Given the description of an element on the screen output the (x, y) to click on. 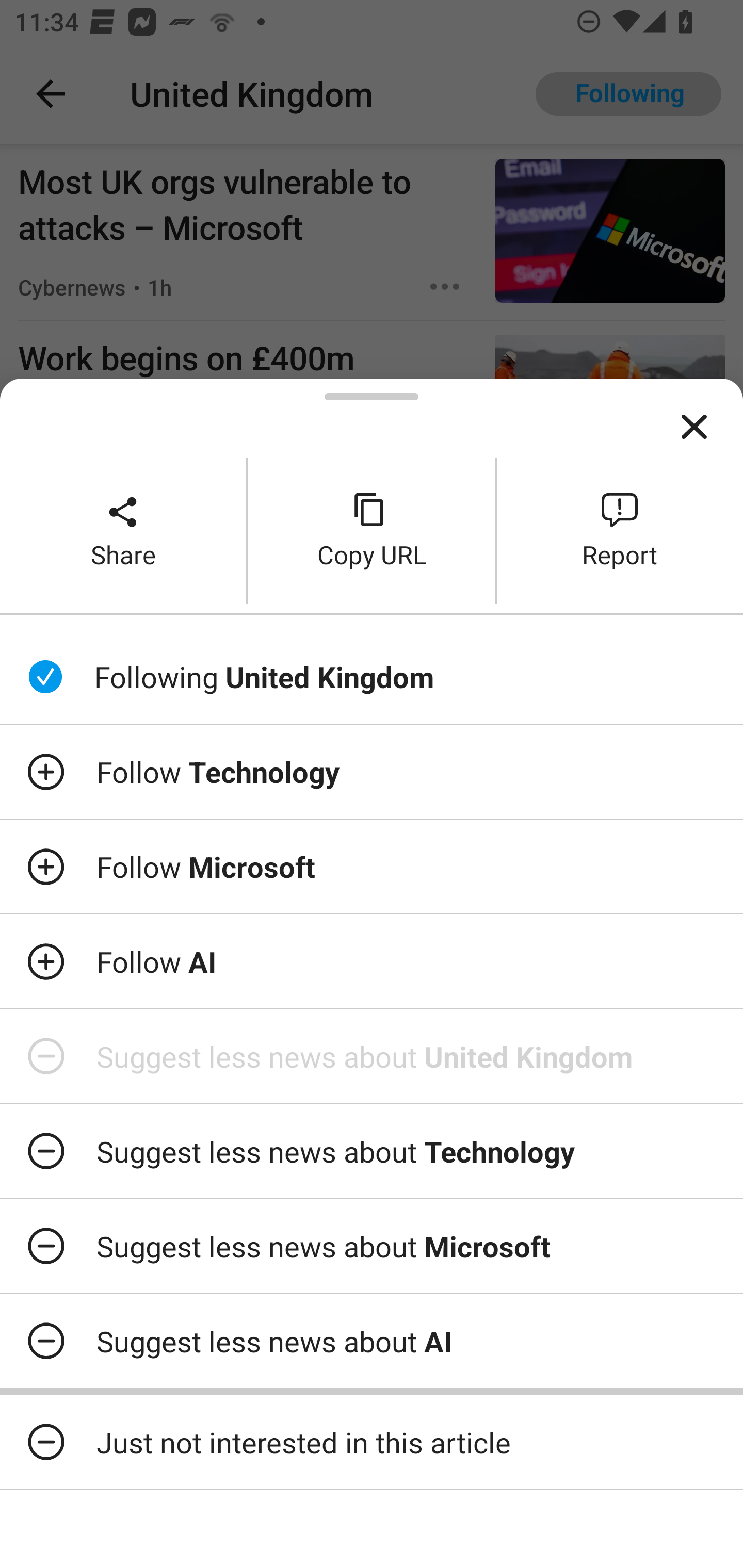
Close (694, 426)
Share (122, 530)
Copy URL (371, 530)
Report (620, 530)
Following United Kingdom (371, 677)
Follow Technology (371, 771)
Follow Microsoft (371, 867)
Follow AI (371, 961)
Suggest less news about Technology (371, 1150)
Suggest less news about Microsoft (371, 1246)
Suggest less news about AI (371, 1340)
Just not interested in this article (371, 1442)
